Given the description of an element on the screen output the (x, y) to click on. 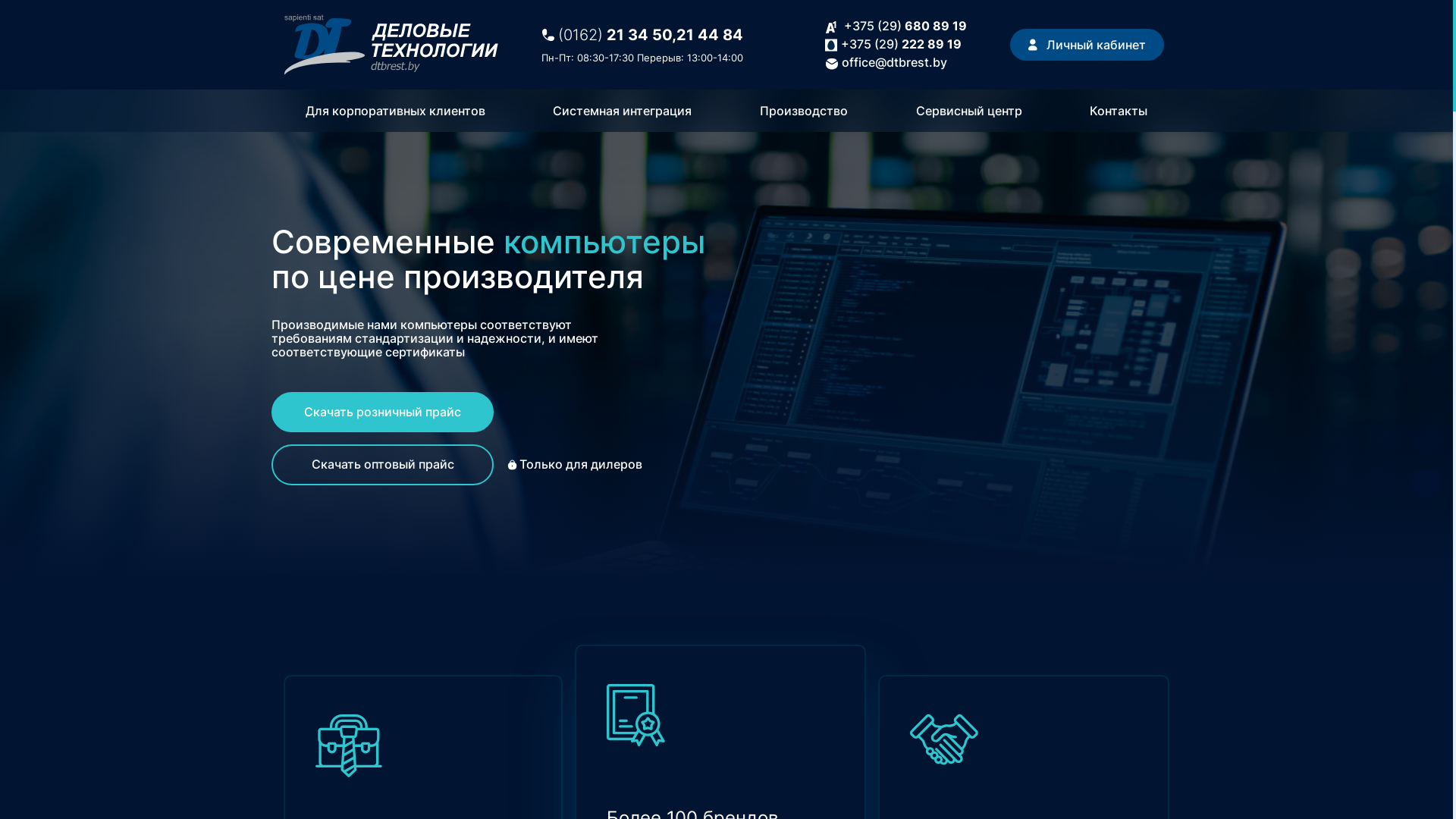
+375 (29) 680 89 19 Element type: text (905, 25)
(0162) 21 34 50, Element type: text (617, 34)
office@dtbrest.by Element type: text (894, 61)
+375 (29) 222 89 19 Element type: text (900, 43)
21 44 84 Element type: text (709, 34)
